Given the description of an element on the screen output the (x, y) to click on. 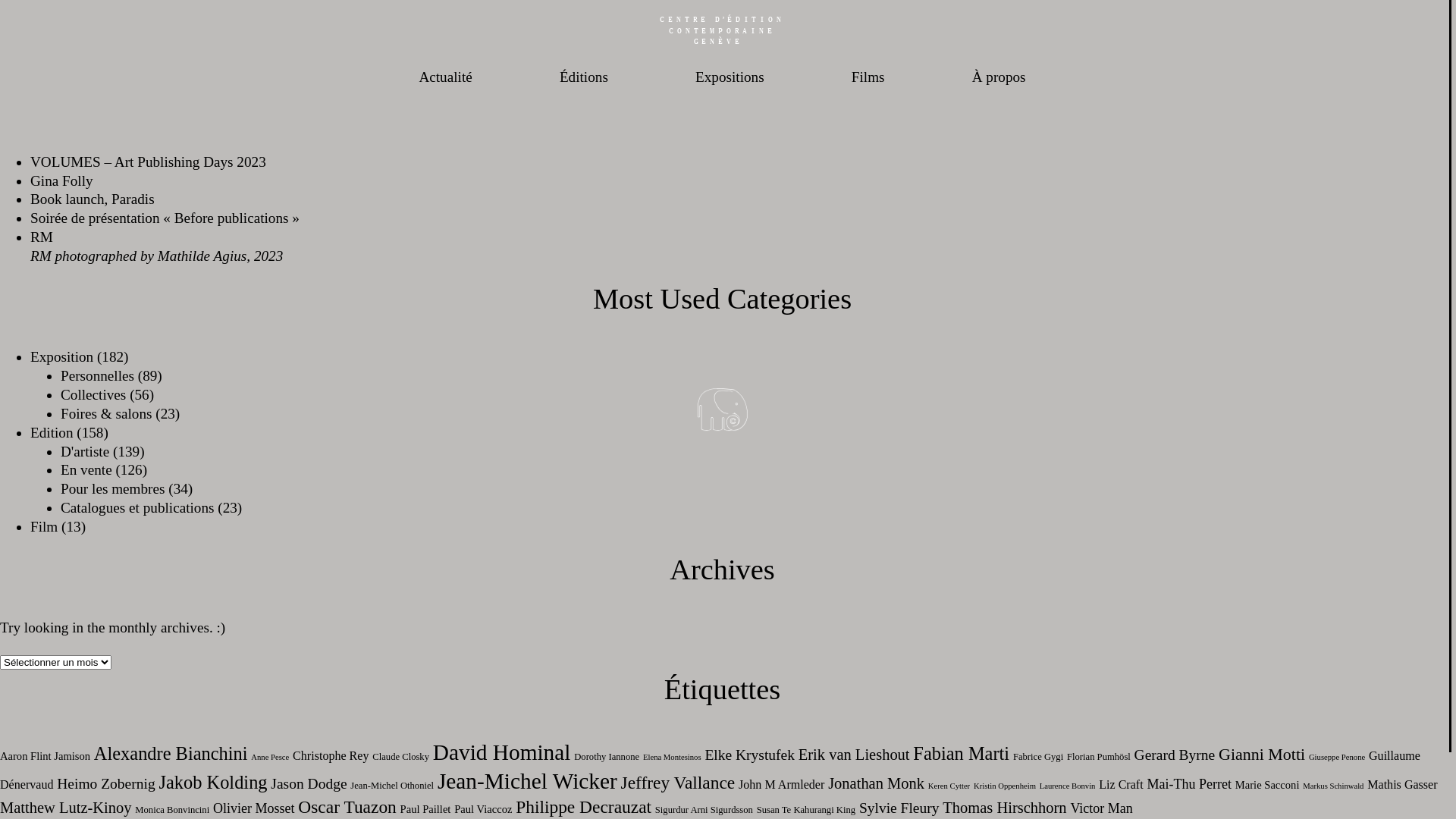
Catalogues et publications Element type: text (137, 507)
En vente Element type: text (86, 469)
Heimo Zobernig Element type: text (105, 783)
Olivier Mosset Element type: text (253, 807)
Foires & salons Element type: text (105, 413)
Personnelles Element type: text (97, 375)
Anne Pesce Element type: text (269, 757)
Book launch, Paradis Element type: text (92, 199)
Sigurdur Arni Sigurdsson Element type: text (704, 809)
Victor Man Element type: text (1101, 807)
Alexandre Bianchini Element type: text (170, 753)
Oscar Tuazon Element type: text (346, 806)
Jason Dodge Element type: text (308, 783)
John M Armleder Element type: text (781, 784)
Edition Element type: text (51, 432)
Jean-Michel Wicker Element type: text (527, 780)
Gianni Motti Element type: text (1261, 753)
Monica Bonvincini Element type: text (171, 809)
Elke Krystufek Element type: text (749, 754)
Fabrice Gygi Element type: text (1038, 756)
Films Element type: text (867, 76)
Gina Folly Element type: text (61, 180)
Erik van Lieshout Element type: text (854, 754)
Paul Paillet Element type: text (425, 809)
D'artiste Element type: text (84, 451)
David Hominal Element type: text (502, 752)
Jean-Michel Othoniel Element type: text (391, 785)
Christophe Rey Element type: text (330, 755)
Pour les membres Element type: text (112, 488)
Fabian Marti Element type: text (961, 753)
Collectives Element type: text (92, 394)
Rechercher Element type: text (170, 76)
Elena Montesinos Element type: text (672, 757)
Paul Viaccoz Element type: text (482, 809)
Keren Cytter Element type: text (948, 785)
Giuseppe Penone Element type: text (1336, 757)
Exposition Element type: text (61, 356)
Marie Sacconi Element type: text (1267, 784)
Mathis Gasser Element type: text (1402, 784)
Philippe Decrauzat Element type: text (583, 806)
Claude Closky Element type: text (400, 756)
Laurence Bonvin Element type: text (1067, 785)
Mai-Thu Perret Element type: text (1188, 783)
Jakob Kolding Element type: text (213, 781)
Gerard Byrne Element type: text (1174, 754)
Aaron Flint Jamison Element type: text (45, 755)
Susan Te Kahurangi King Element type: text (805, 809)
Sylvie Fleury Element type: text (899, 807)
Kristin Oppenheim Element type: text (1004, 785)
Matthew Lutz-Kinoy Element type: text (65, 807)
Jeffrey Vallance Element type: text (678, 782)
RM
RM photographed by Mathilde Agius, 2023 Element type: text (156, 246)
Liz Craft Element type: text (1120, 784)
Markus Schinwald Element type: text (1332, 785)
Dorothy Iannone Element type: text (606, 756)
Expositions Element type: text (729, 76)
Film Element type: text (43, 526)
Thomas Hirschhorn Element type: text (1004, 807)
Jonathan Monk Element type: text (876, 783)
